Given the description of an element on the screen output the (x, y) to click on. 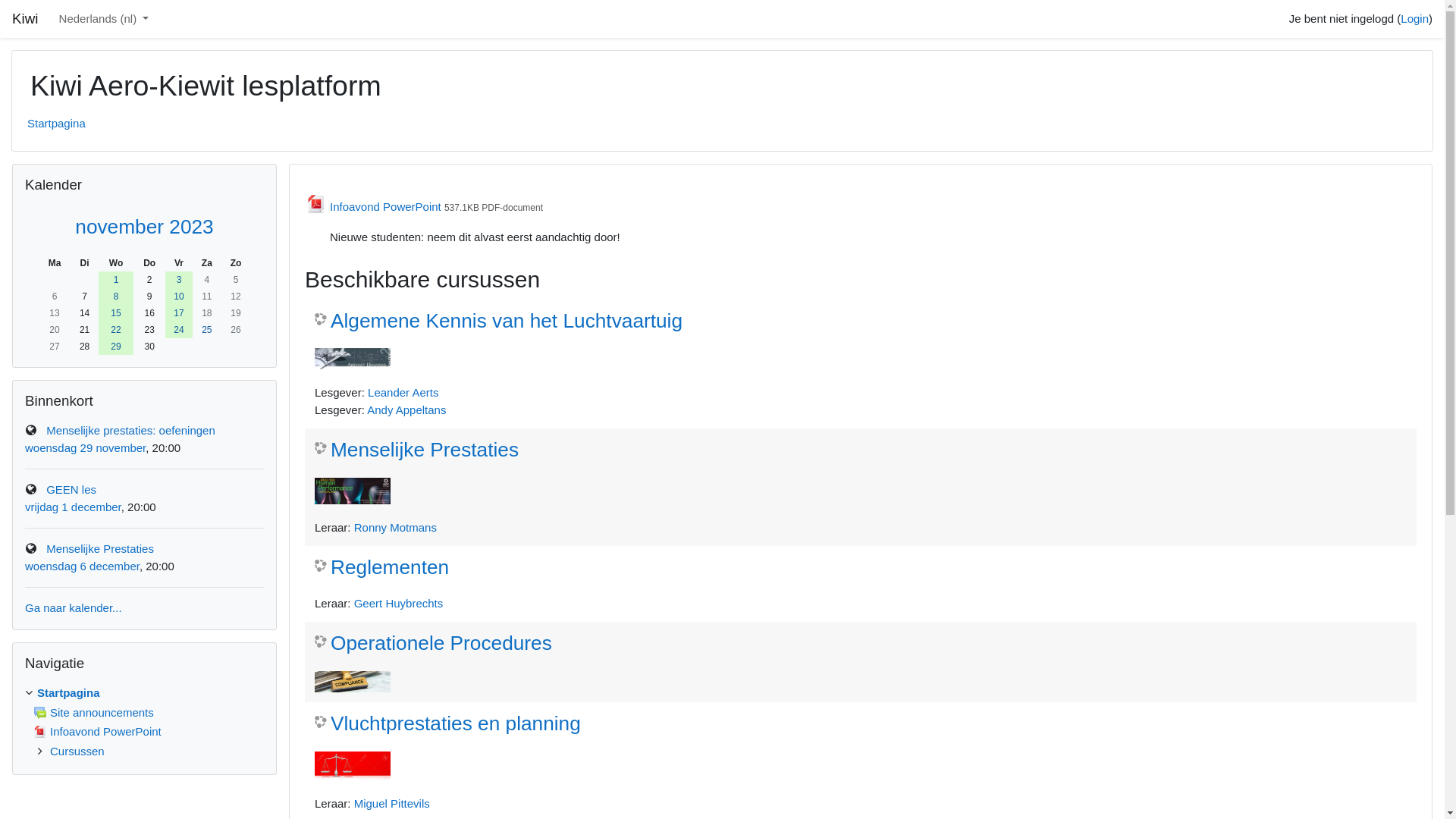
Bestand Element type: hover (40, 731)
Miguel Pittevils Element type: text (391, 803)
Menselijke Prestaties Element type: text (416, 450)
24 Element type: text (178, 329)
Menselijke prestaties: oefeningen Element type: text (130, 429)
Algemene Kennis van het Luchtvaartuig Element type: text (498, 321)
Andy Appeltans Element type: text (406, 409)
Nederlands (nl) Element type: text (104, 19)
Login Element type: text (1414, 18)
Menselijke Prestaties Element type: text (99, 548)
november 2023 Element type: text (144, 226)
Operationele Procedures Element type: text (433, 643)
woensdag 29 november Element type: text (85, 447)
Cursussen Element type: text (77, 750)
Startpagina Element type: text (56, 122)
22 Element type: text (116, 329)
Navigatie overslaan Element type: text (11, 641)
Startpagina Element type: text (68, 692)
1 Element type: text (116, 279)
15 Element type: text (116, 313)
Leander Aerts Element type: text (402, 391)
GEEN les Element type: text (71, 489)
Ga naar kalender... Element type: text (73, 607)
vrijdag 1 december Element type: text (73, 506)
25 Element type: text (206, 329)
17 Element type: text (178, 313)
Vluchtprestaties en planning Element type: text (447, 724)
Ronny Motmans Element type: text (395, 526)
Site announcements Element type: text (93, 711)
Site Element type: hover (31, 489)
Infoavond PowerPoint Element type: text (97, 730)
woensdag 6 december Element type: text (82, 565)
Kiwi Element type: text (24, 19)
29 Element type: text (116, 346)
Geert Huybrechts Element type: text (398, 602)
Infoavond PowerPoint
Bestand Element type: text (374, 204)
8 Element type: text (116, 296)
10 Element type: text (178, 296)
Reglementen Element type: text (381, 567)
Forum Element type: hover (40, 712)
3 Element type: text (178, 279)
Site Element type: hover (31, 548)
Site Element type: hover (31, 429)
Binnenkort overslaan Element type: text (11, 379)
Kalender overslaan Element type: text (11, 162)
